Given the description of an element on the screen output the (x, y) to click on. 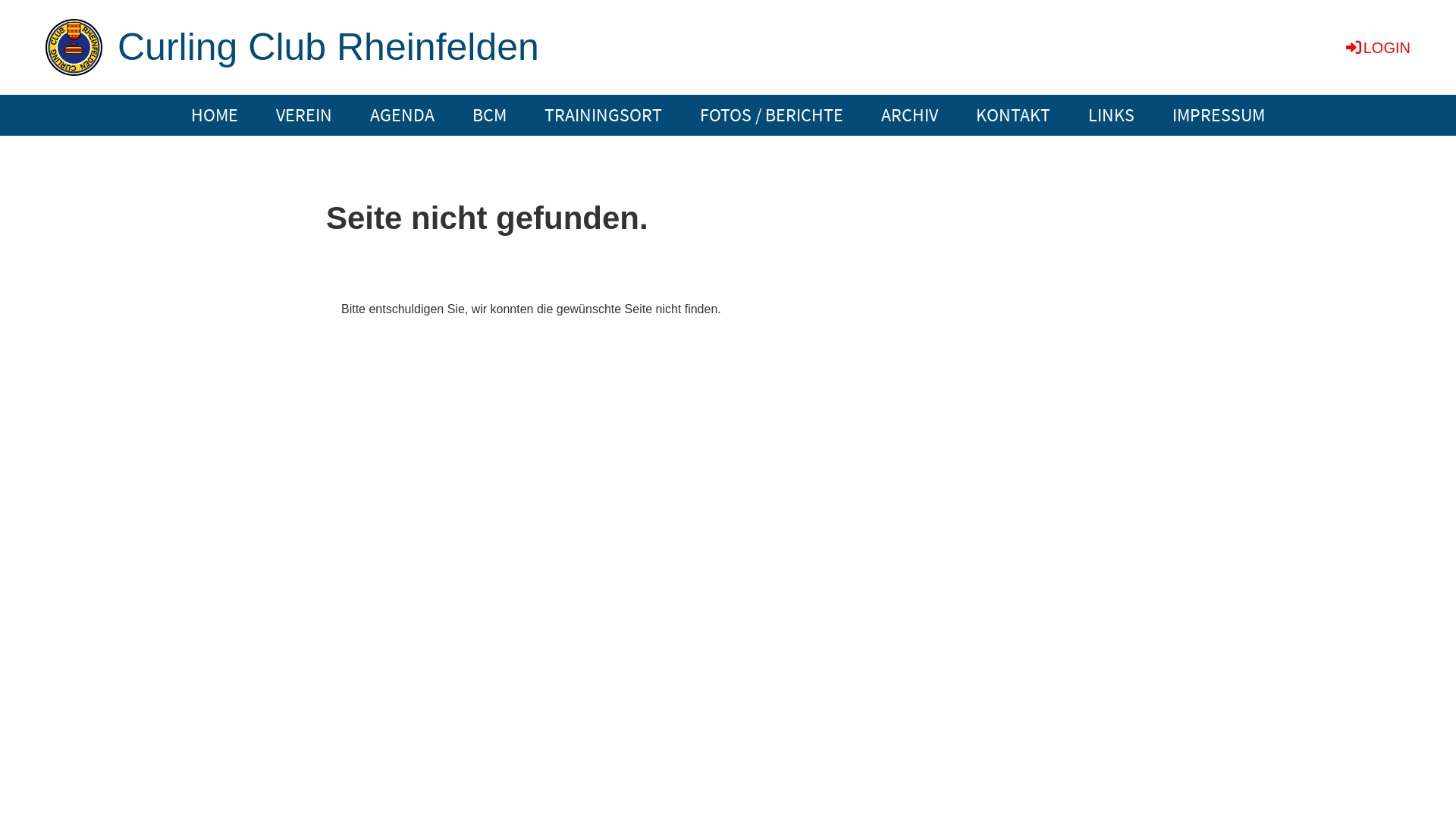
KONTAKT Element type: text (1013, 114)
ARCHIV Element type: text (909, 114)
BCM Element type: text (489, 114)
IMPRESSUM Element type: text (1218, 114)
VEREIN Element type: text (304, 114)
HOME Element type: text (214, 114)
LINKS Element type: text (1111, 114)
LOGIN Element type: text (1376, 47)
AGENDA Element type: text (402, 114)
TRAININGSORT Element type: text (602, 114)
Curling Club Rheinfelden Element type: text (328, 45)
FOTOS / BERICHTE Element type: text (771, 114)
